Given the description of an element on the screen output the (x, y) to click on. 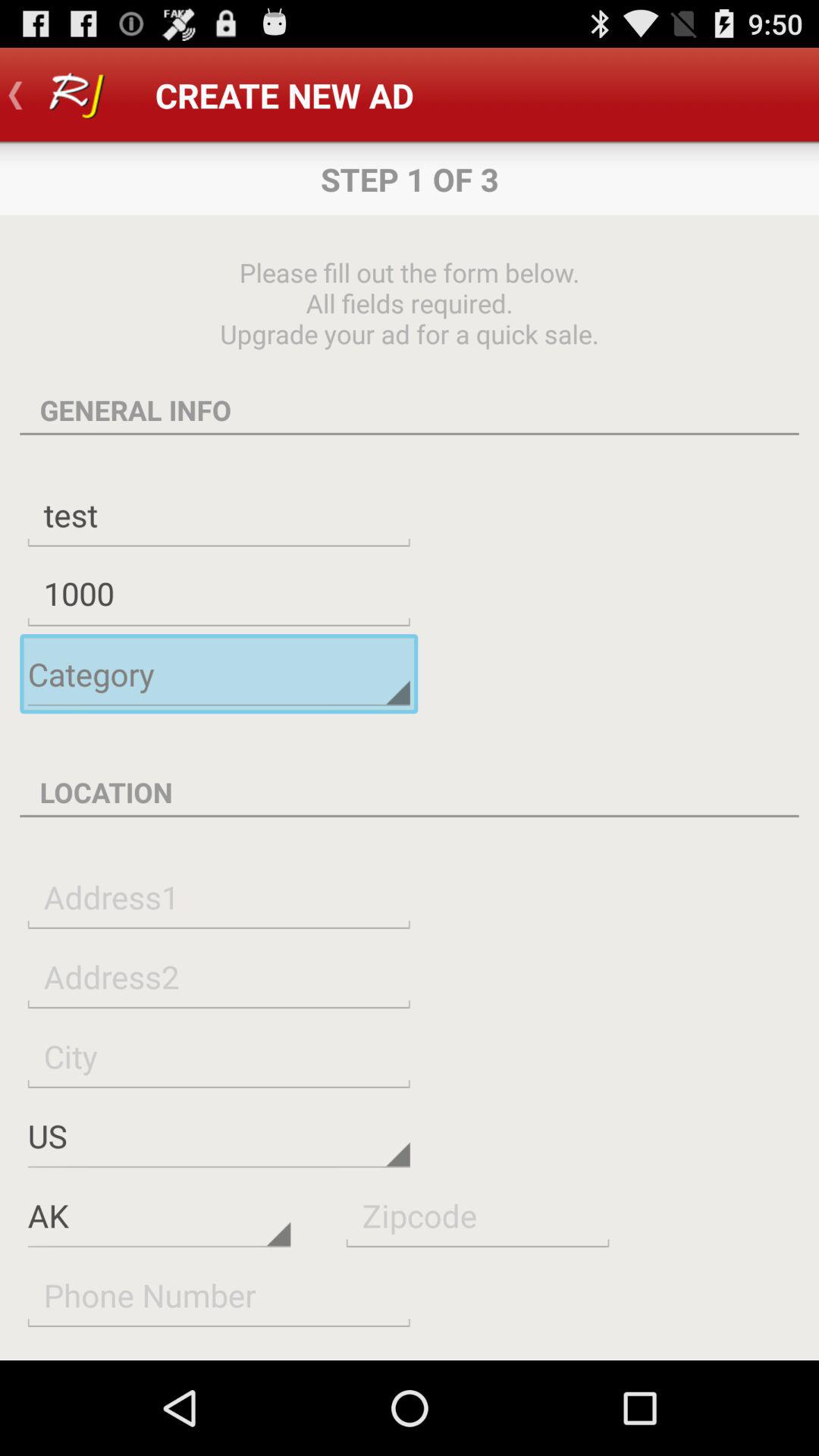
text field for entering city (218, 1055)
